Given the description of an element on the screen output the (x, y) to click on. 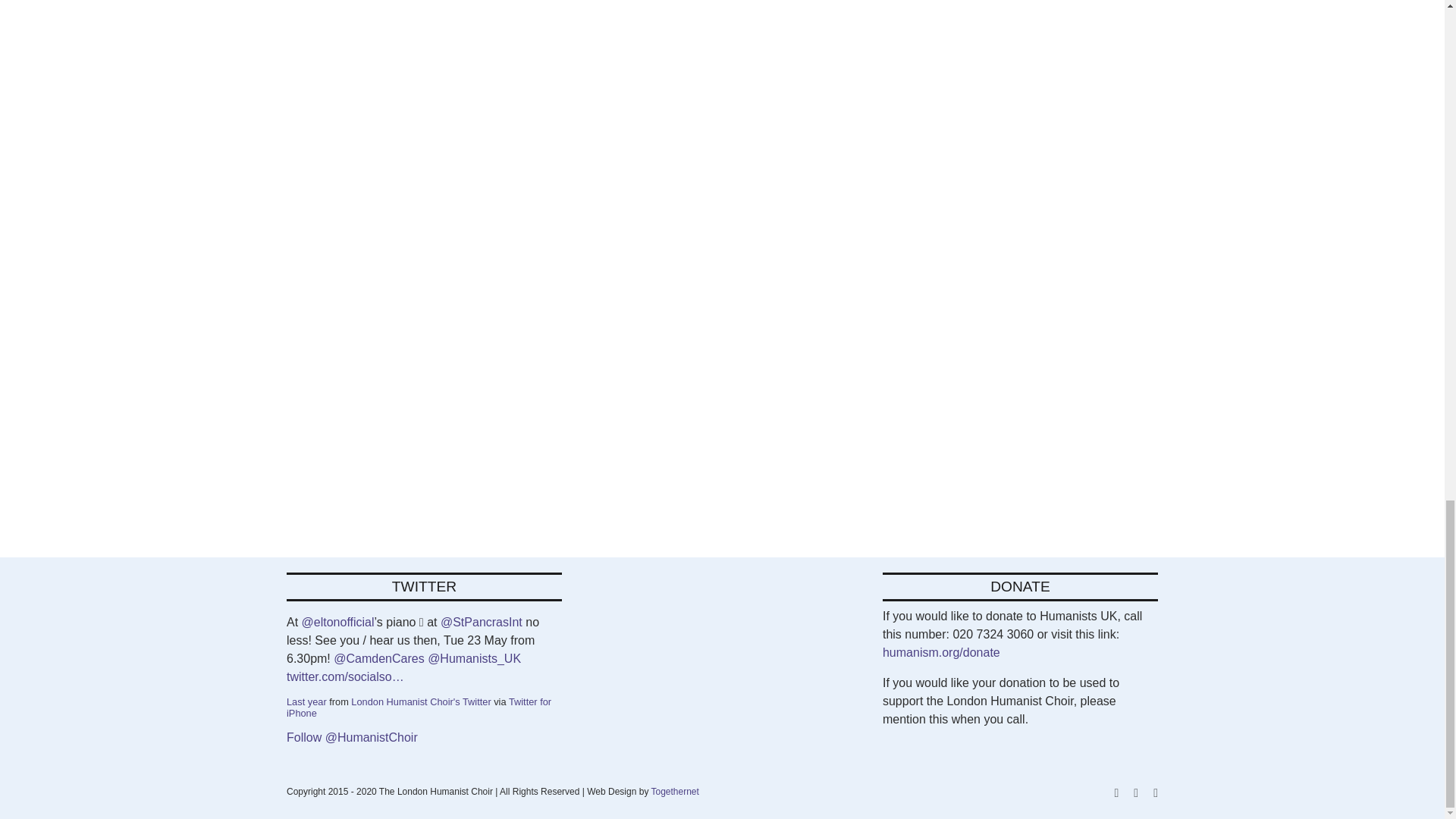
Elton John (337, 621)
St Pancras International (481, 621)
Humanists UK (474, 658)
Camden Cares (378, 658)
